Given the description of an element on the screen output the (x, y) to click on. 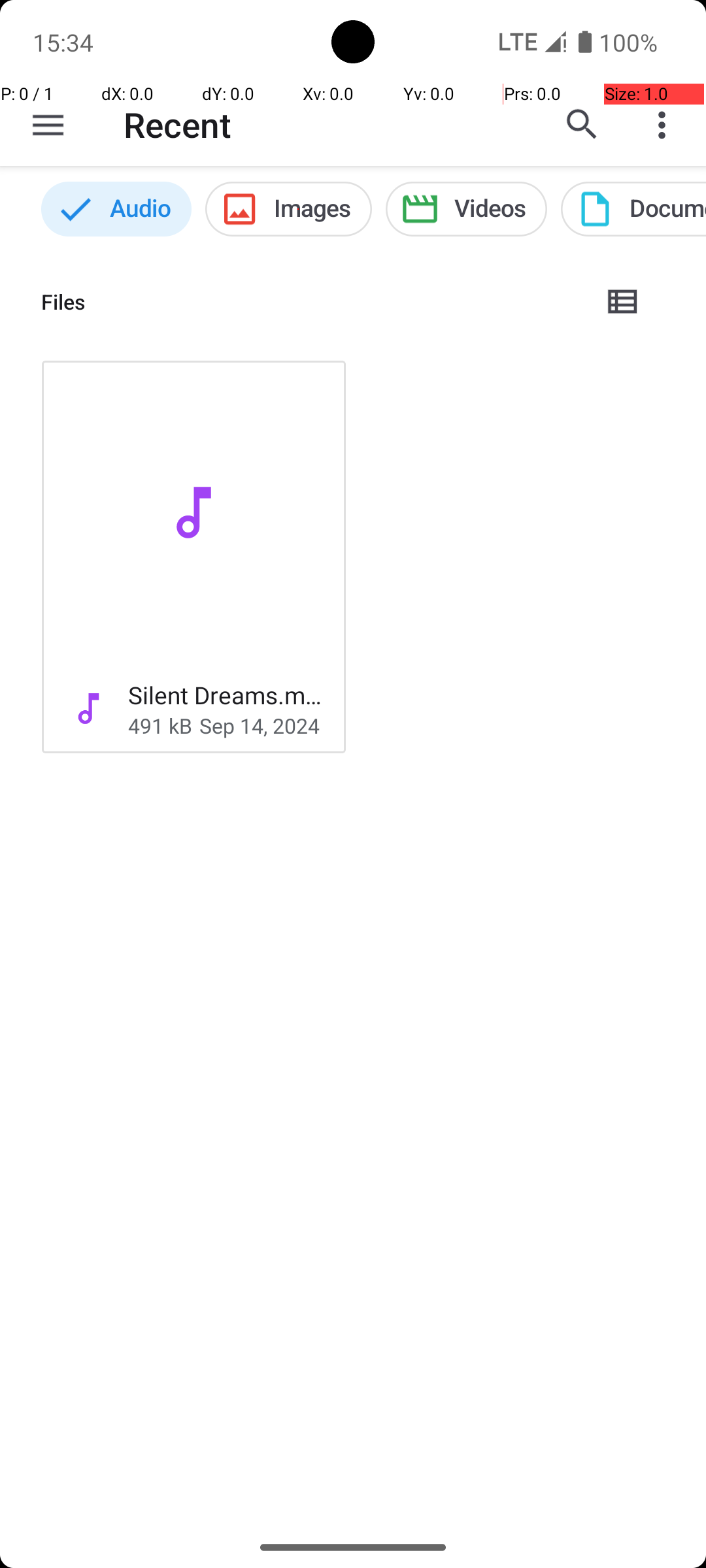
Silent Dreams.mp3 Element type: android.widget.TextView (226, 694)
491 kB Element type: android.widget.TextView (160, 725)
Sep 14, 2024 Element type: android.widget.TextView (259, 725)
